Given the description of an element on the screen output the (x, y) to click on. 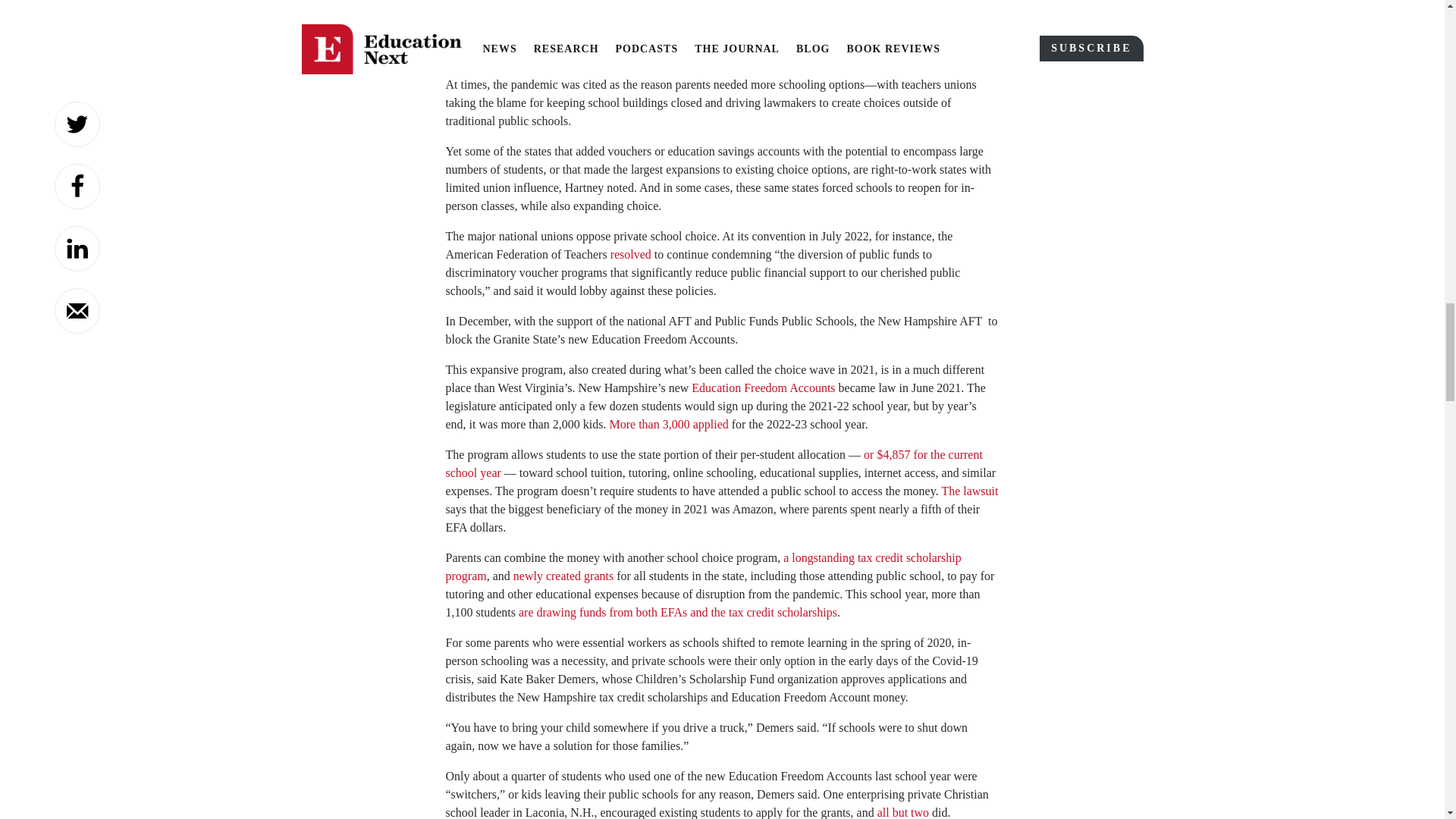
resolved (630, 254)
The lawsuit (968, 490)
a longstanding tax credit scholarship program (702, 566)
More than 3,000 applied (668, 423)
newly created grants (562, 575)
Education Freedom Accounts (762, 387)
